Given the description of an element on the screen output the (x, y) to click on. 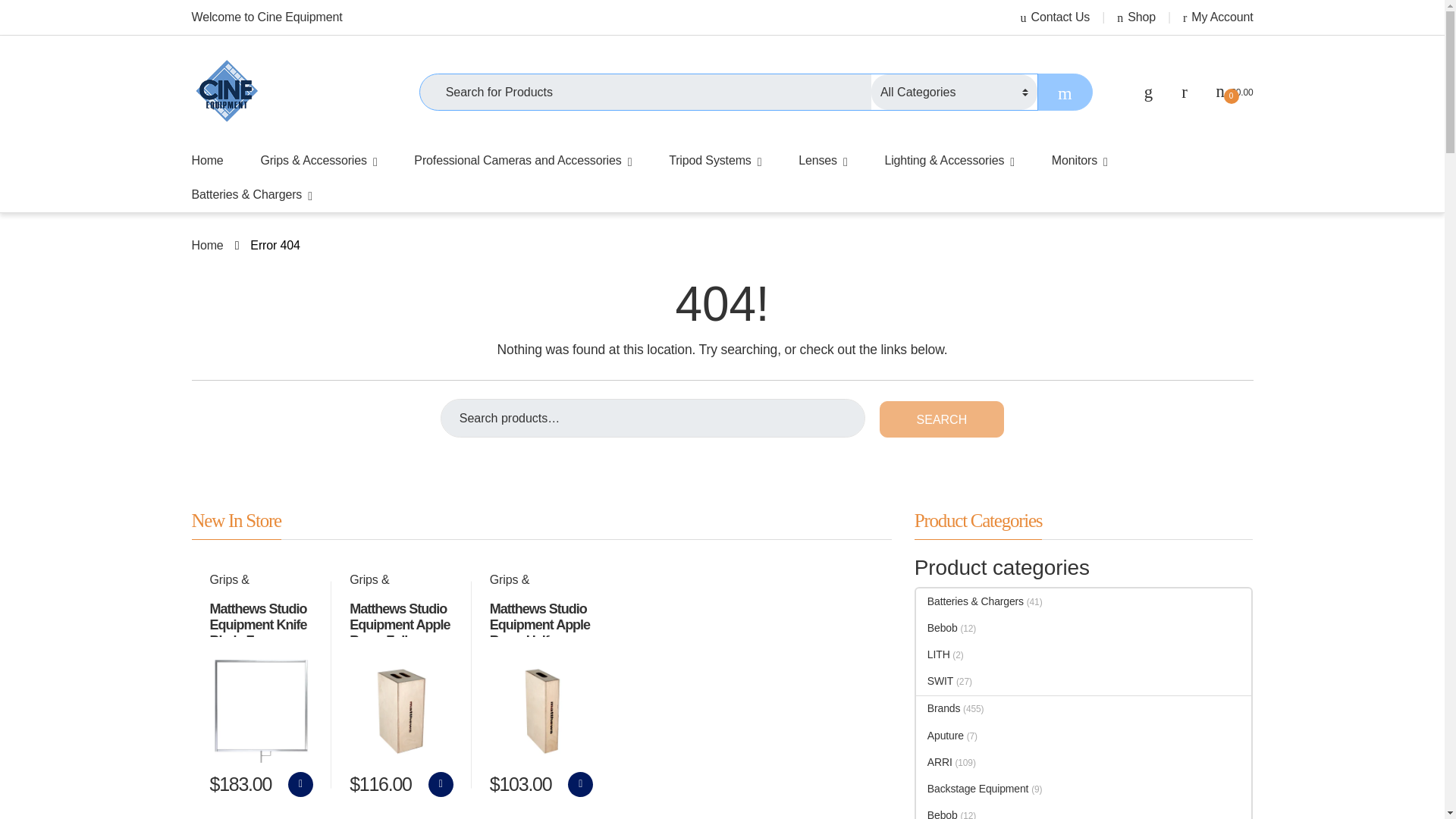
Welcome to Cine Equipment (266, 17)
Contact Us (1055, 17)
My Account (1217, 17)
My Account (1217, 17)
Shop (1136, 17)
Welcome to Cine Equipment (266, 17)
Shop (1136, 17)
Contact Us (1055, 17)
